Given the description of an element on the screen output the (x, y) to click on. 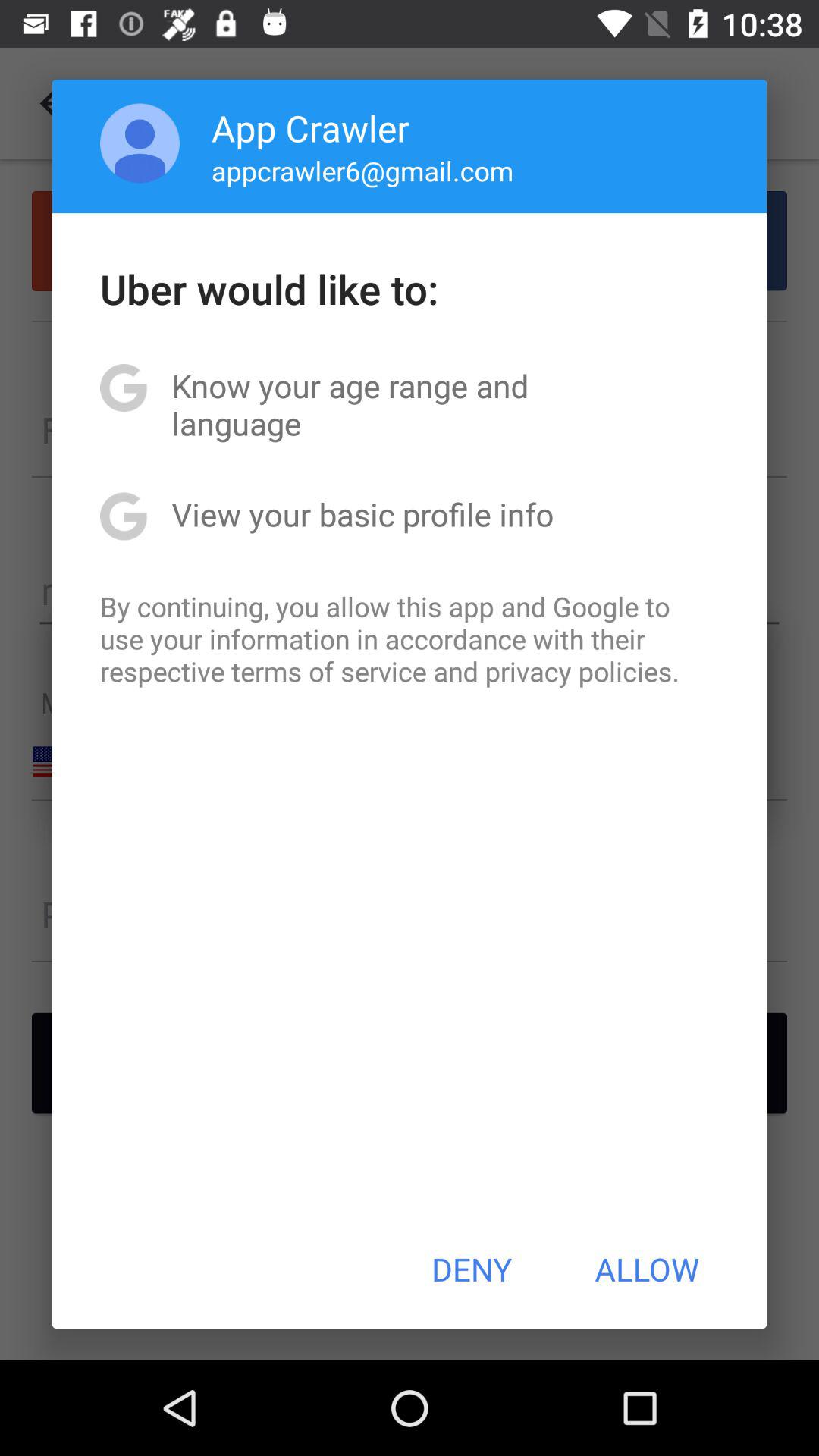
choose appcrawler6@gmail.com icon (362, 170)
